Given the description of an element on the screen output the (x, y) to click on. 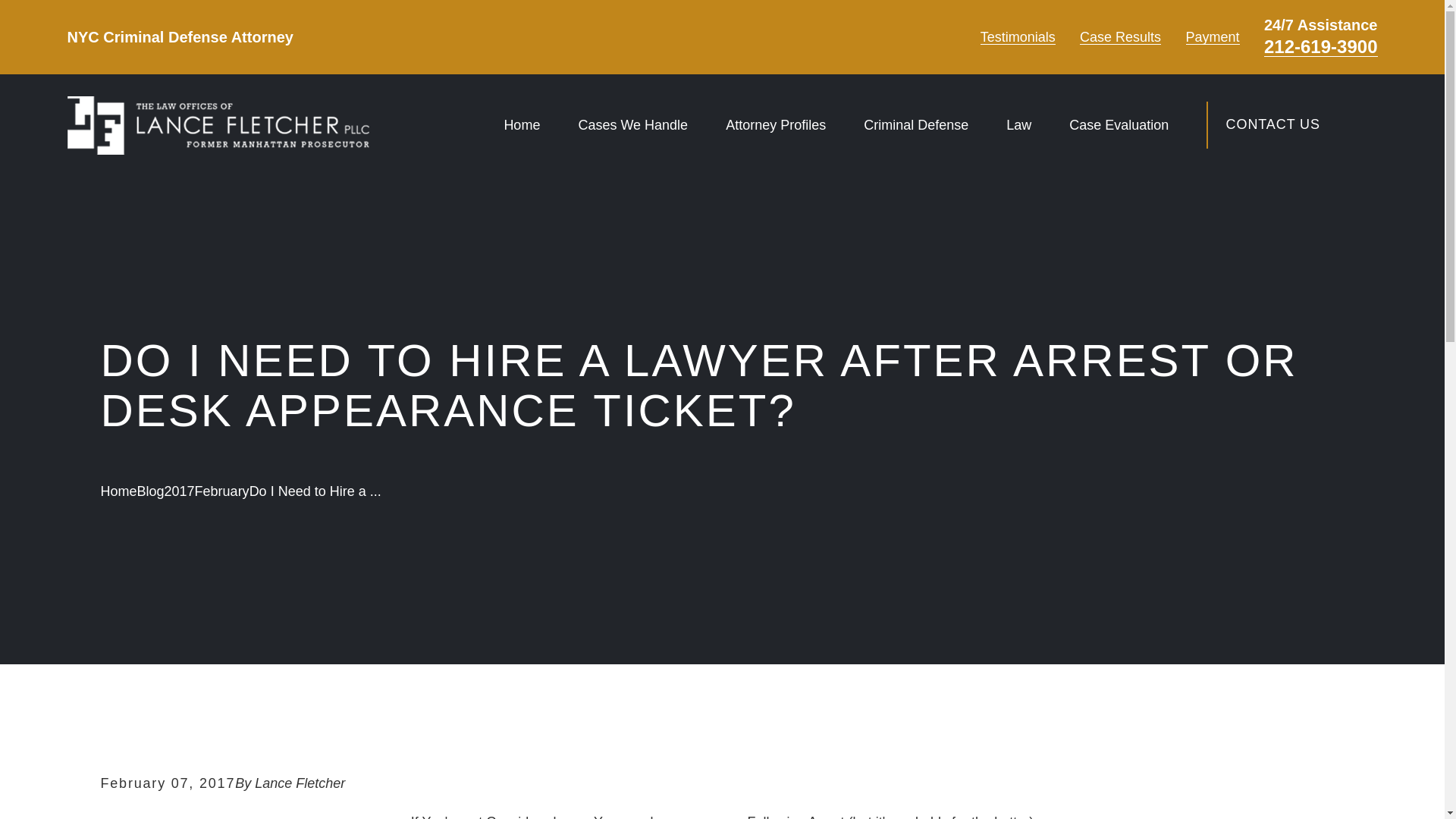
Home (217, 125)
Payment (1213, 37)
Criminal Defense (915, 124)
Attorney Profiles (775, 124)
Case Results (1120, 37)
212-619-3900 (1320, 46)
Cases We Handle (632, 124)
Go Home (118, 491)
Testimonials (1017, 37)
